Given the description of an element on the screen output the (x, y) to click on. 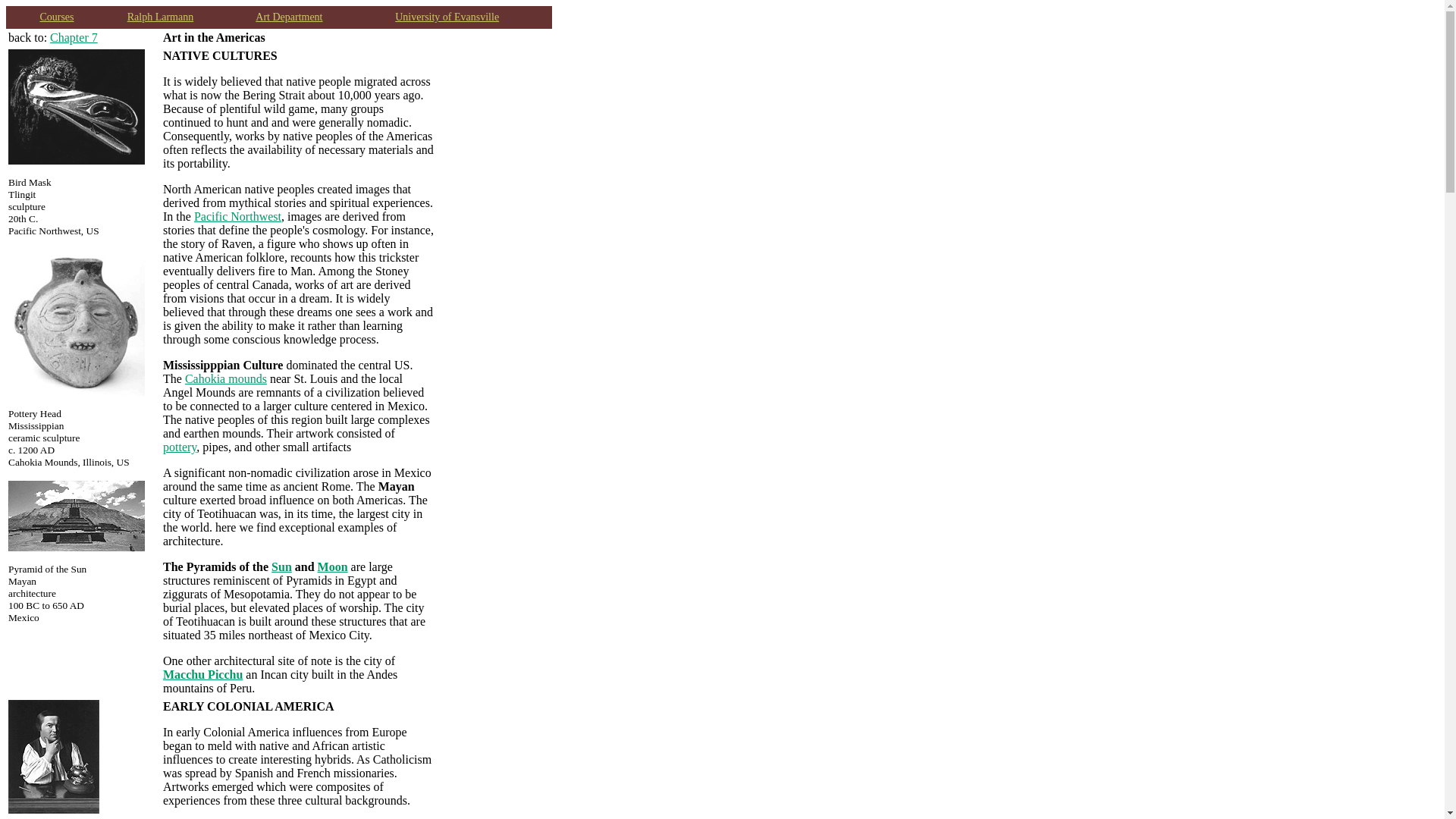
Sun (281, 566)
John Singleton Copley, Paul Revere (53, 809)
Cahokia mounds (225, 378)
Pacific Northwest (237, 215)
University of Evansville (446, 16)
Mississippian, Village Reconstruction (225, 378)
Mississippian, Head Pottery (76, 391)
Tlingit, Bird Mask (237, 215)
pottery (179, 446)
Mississippian, Pottery (179, 446)
Ralph Larmann (160, 16)
Mayan, Pyramid of the Sun (281, 566)
Incan, Macchu Picchu (203, 674)
Courses (56, 16)
Chapter 7 (73, 37)
